Given the description of an element on the screen output the (x, y) to click on. 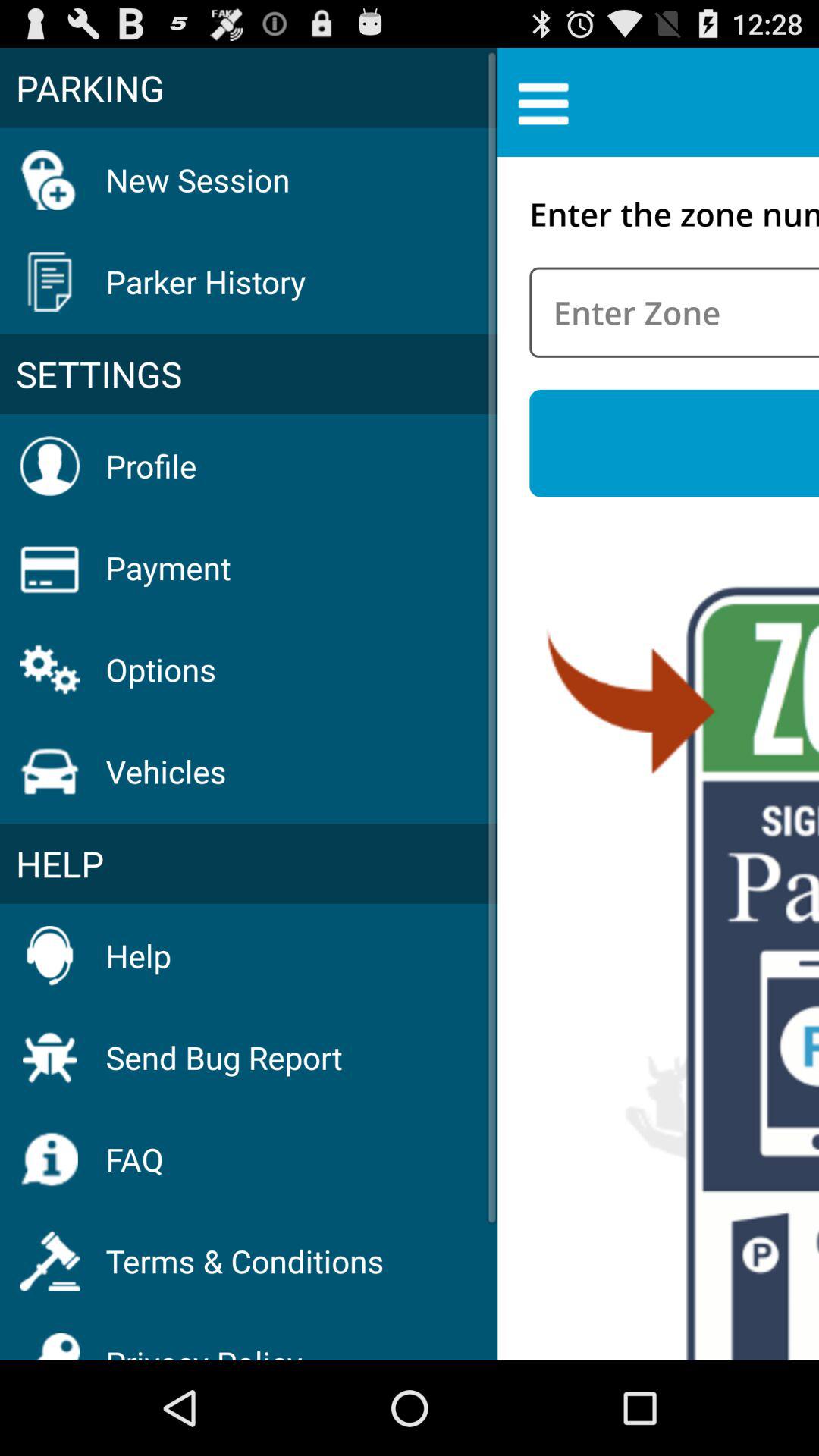
launch the icon at the top (543, 101)
